Given the description of an element on the screen output the (x, y) to click on. 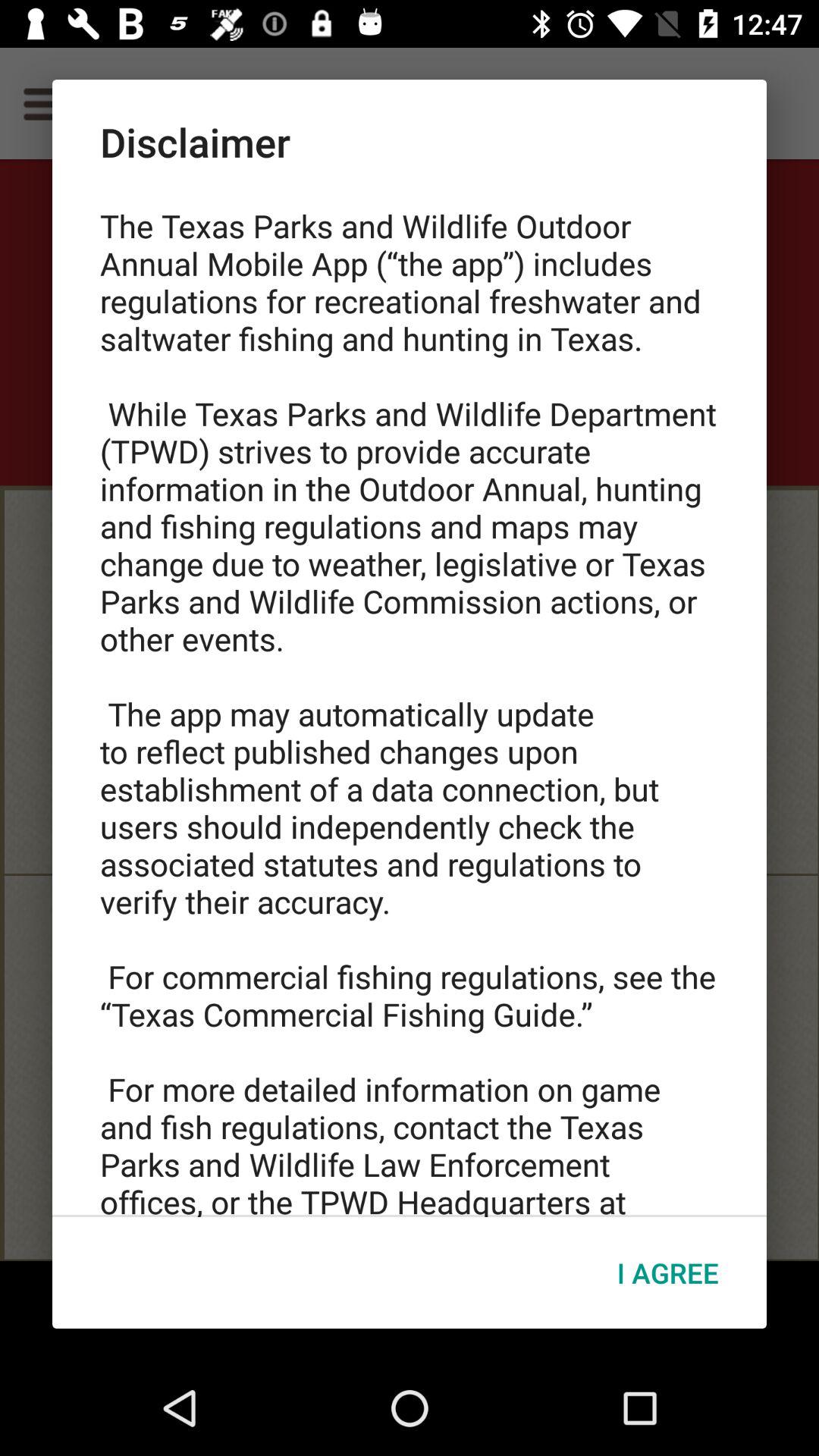
flip to i agree button (667, 1272)
